Given the description of an element on the screen output the (x, y) to click on. 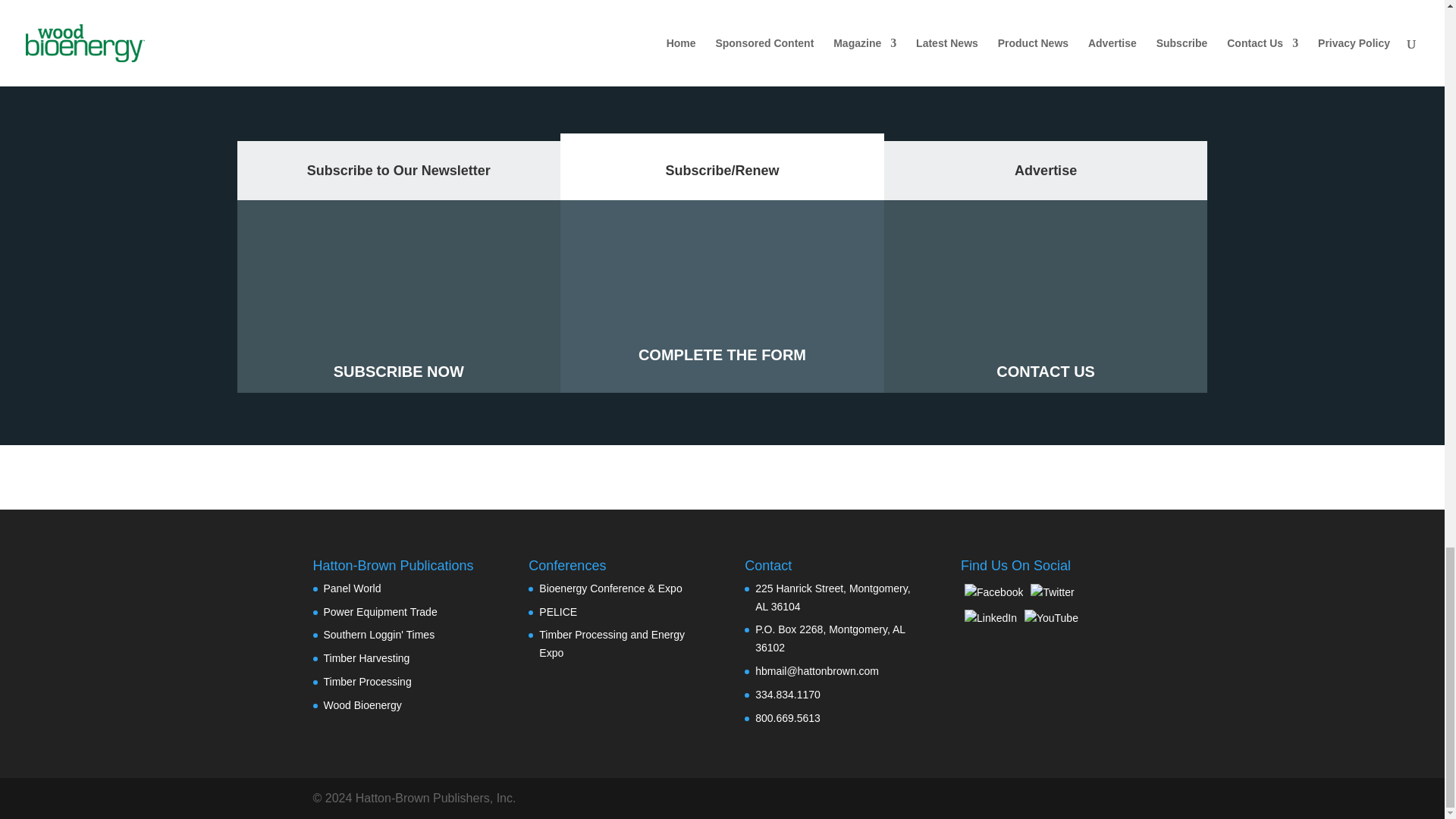
COMPLETE THE FORM (722, 354)
Timber Processing (366, 681)
CONTACT US (1044, 371)
Panel World (351, 588)
Timber Processing and Energy Expo (611, 643)
SUBSCRIBE NOW (398, 371)
Wood Bioenergy (362, 705)
Power Equipment Trade (379, 612)
Southern Loggin' Times (378, 634)
Timber Harvesting (366, 657)
